Given the description of an element on the screen output the (x, y) to click on. 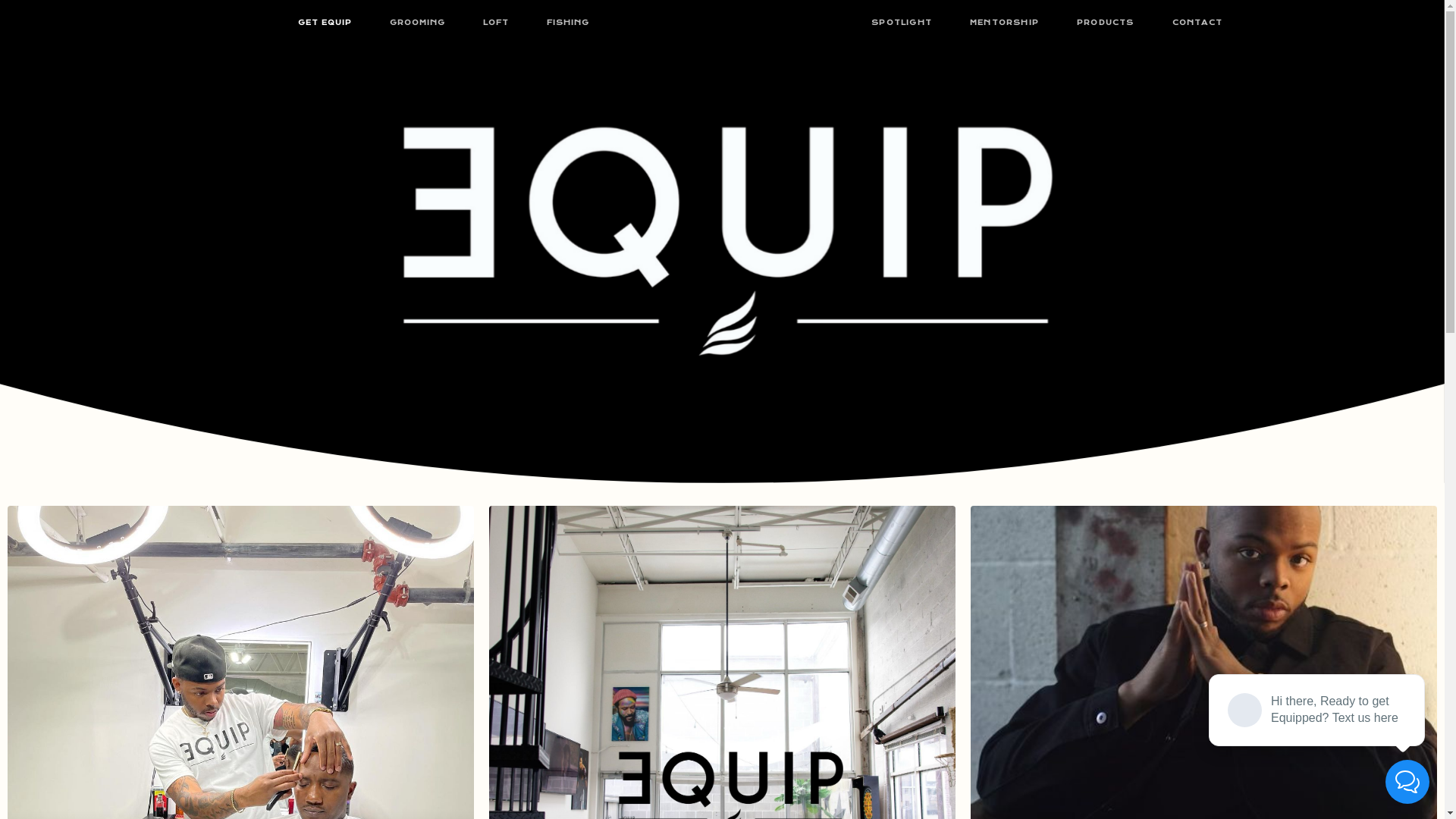
Grooming Element type: text (553, 503)
Fishing Element type: text (706, 503)
Mentorship Element type: text (770, 503)
CONTACT Element type: text (1197, 22)
PRODUCTS Element type: text (1105, 22)
GET EQUIP Element type: text (324, 22)
Get Equip Element type: text (485, 503)
Loft Element type: text (605, 503)
LOFT Element type: text (495, 22)
Shadow Element type: text (652, 503)
FISHING Element type: text (567, 22)
SPOTLIGHT Element type: text (901, 22)
Contact Element type: text (964, 503)
MENTORSHIP Element type: text (1003, 22)
Spotlight Element type: text (840, 503)
Products Element type: text (903, 503)
GROOMING Element type: text (416, 22)
